Given the description of an element on the screen output the (x, y) to click on. 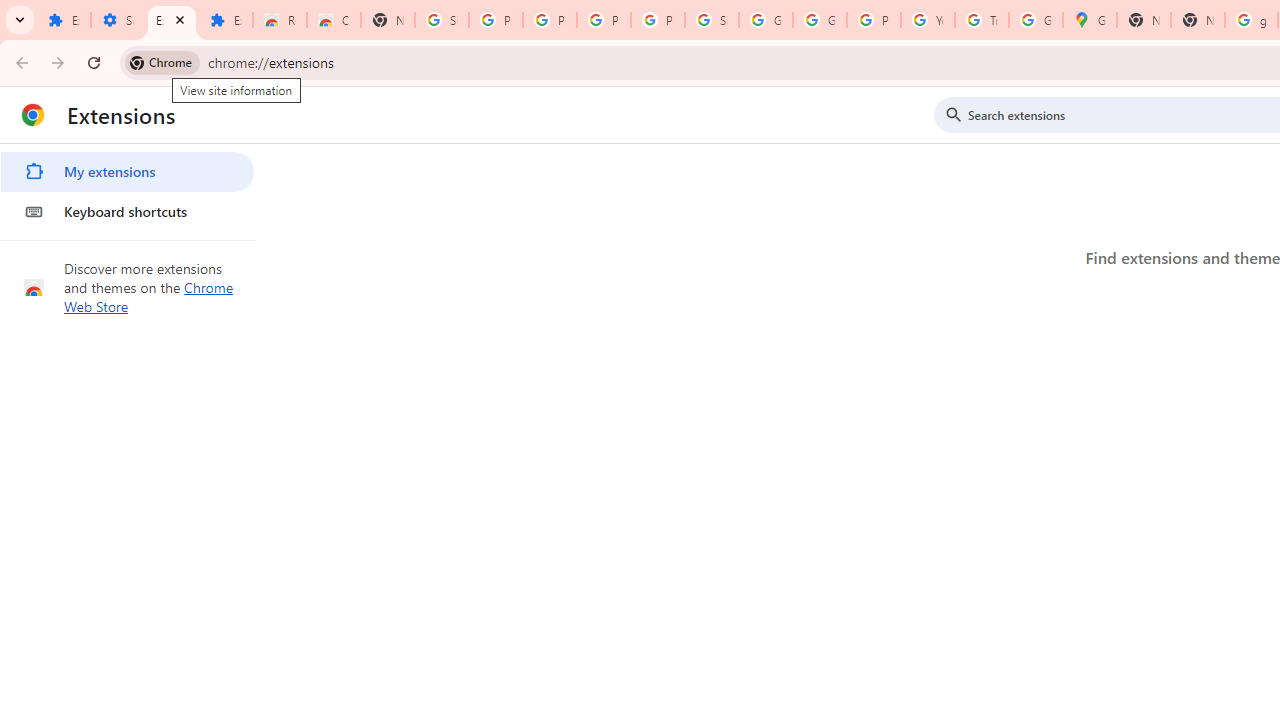
AutomationID: sectionMenu (128, 187)
Extensions (63, 20)
Keyboard shortcuts (127, 211)
Chrome Web Store (149, 296)
Sign in - Google Accounts (711, 20)
Google Maps (1089, 20)
Chrome Web Store - Themes (333, 20)
Reviews: Helix Fruit Jump Arcade Game (280, 20)
Extensions (225, 20)
